Given the description of an element on the screen output the (x, y) to click on. 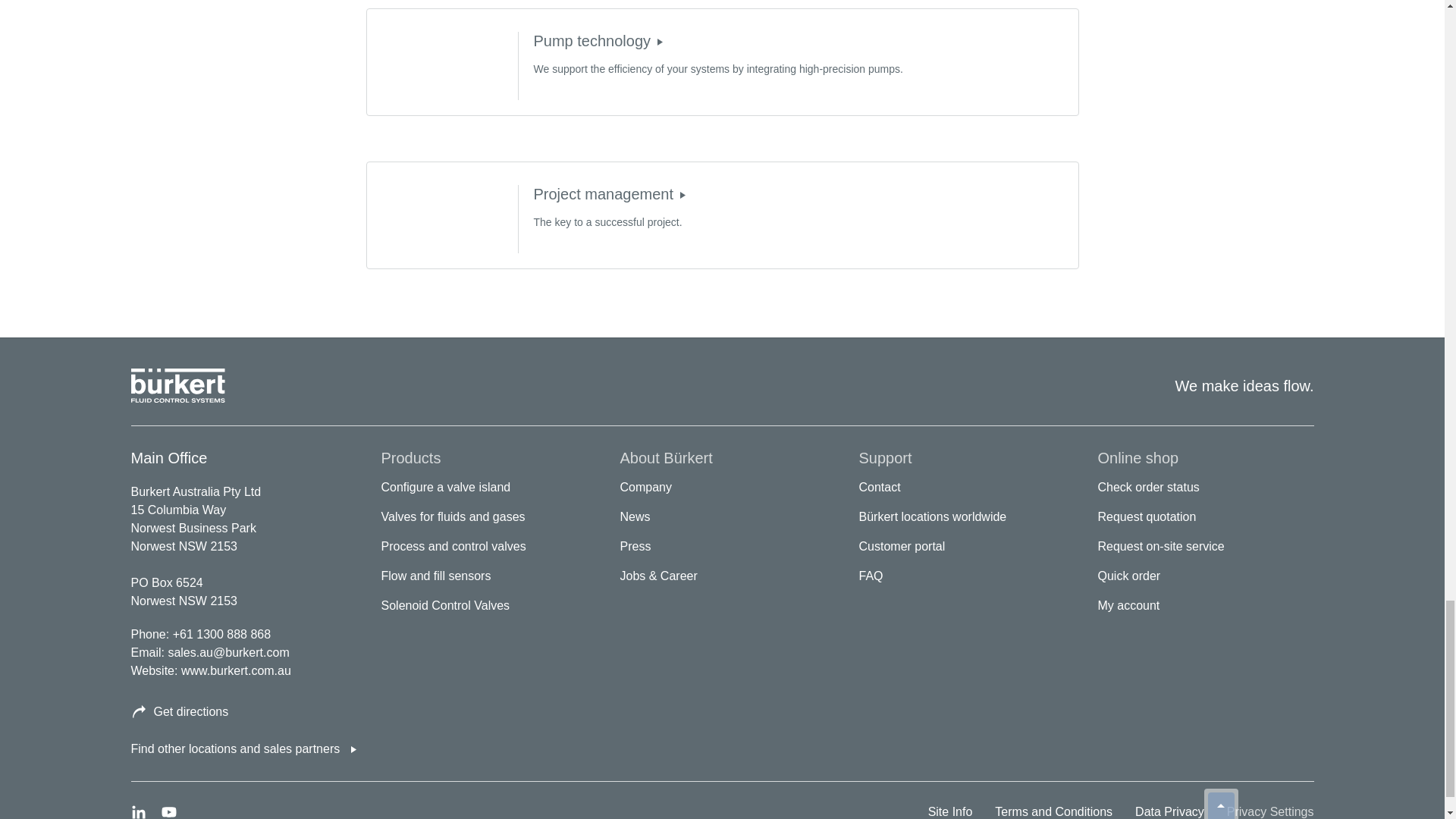
Pump technology (659, 41)
Project management (682, 194)
Buerkert logo (177, 385)
